Given the description of an element on the screen output the (x, y) to click on. 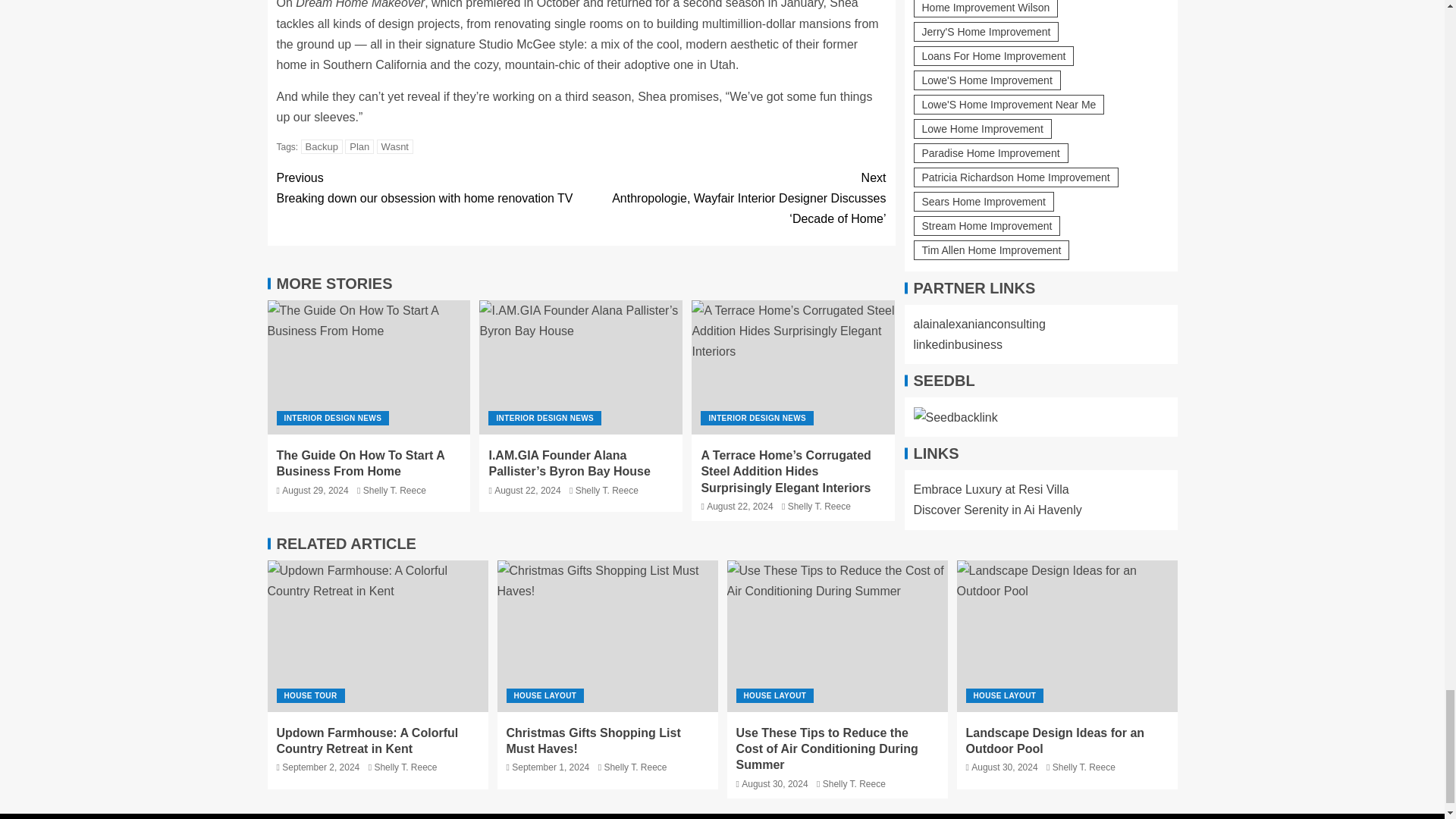
Plan (359, 146)
Backup (321, 146)
Wasnt (428, 187)
The Guide On How To Start A Business From Home (395, 146)
